Given the description of an element on the screen output the (x, y) to click on. 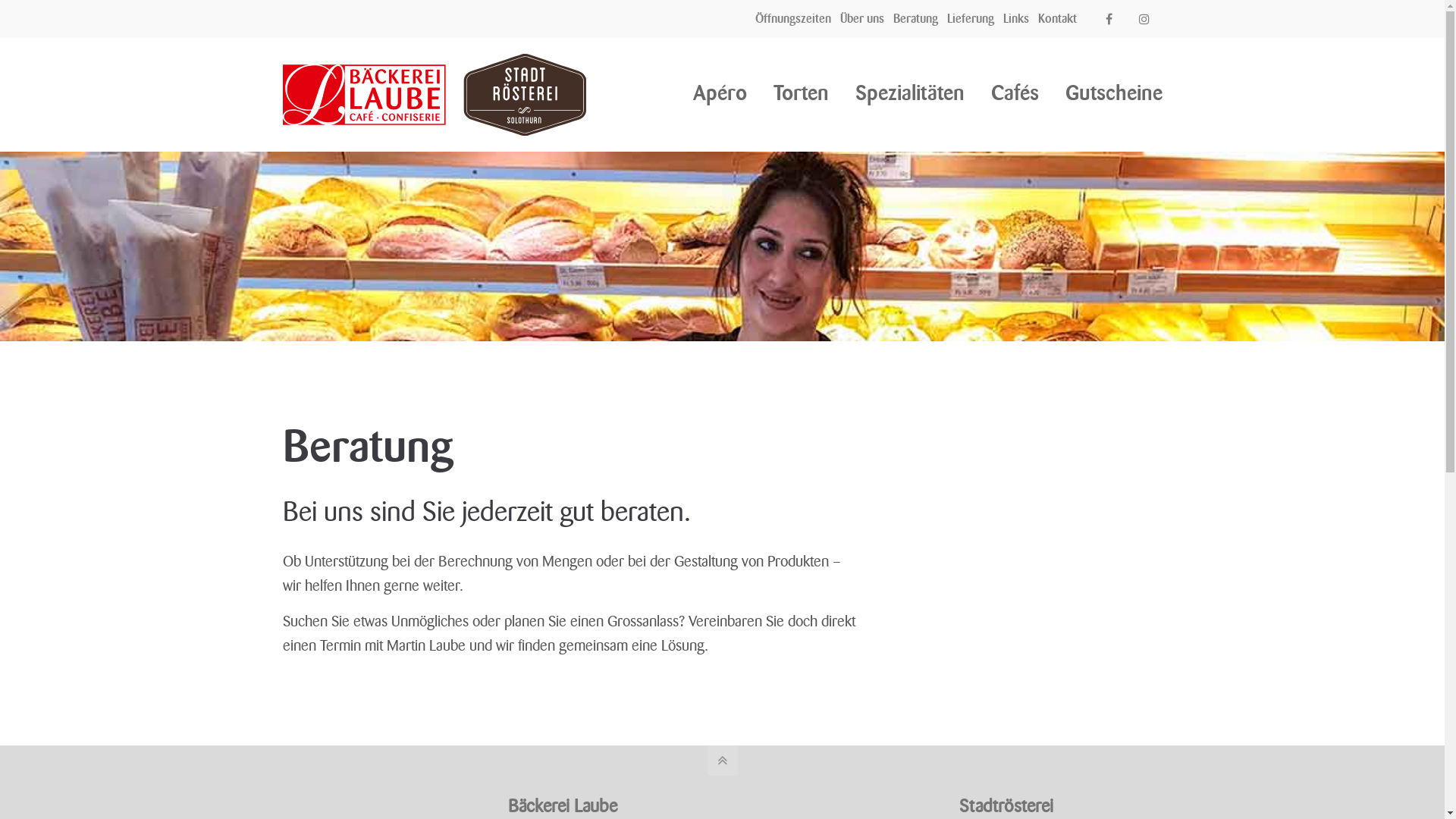
Links Element type: text (1016, 18)
Torten Element type: text (800, 93)
Kontakt Element type: text (1057, 18)
Beratung Element type: text (915, 18)
Lieferung Element type: text (970, 18)
Gutscheine Element type: text (1112, 93)
